Given the description of an element on the screen output the (x, y) to click on. 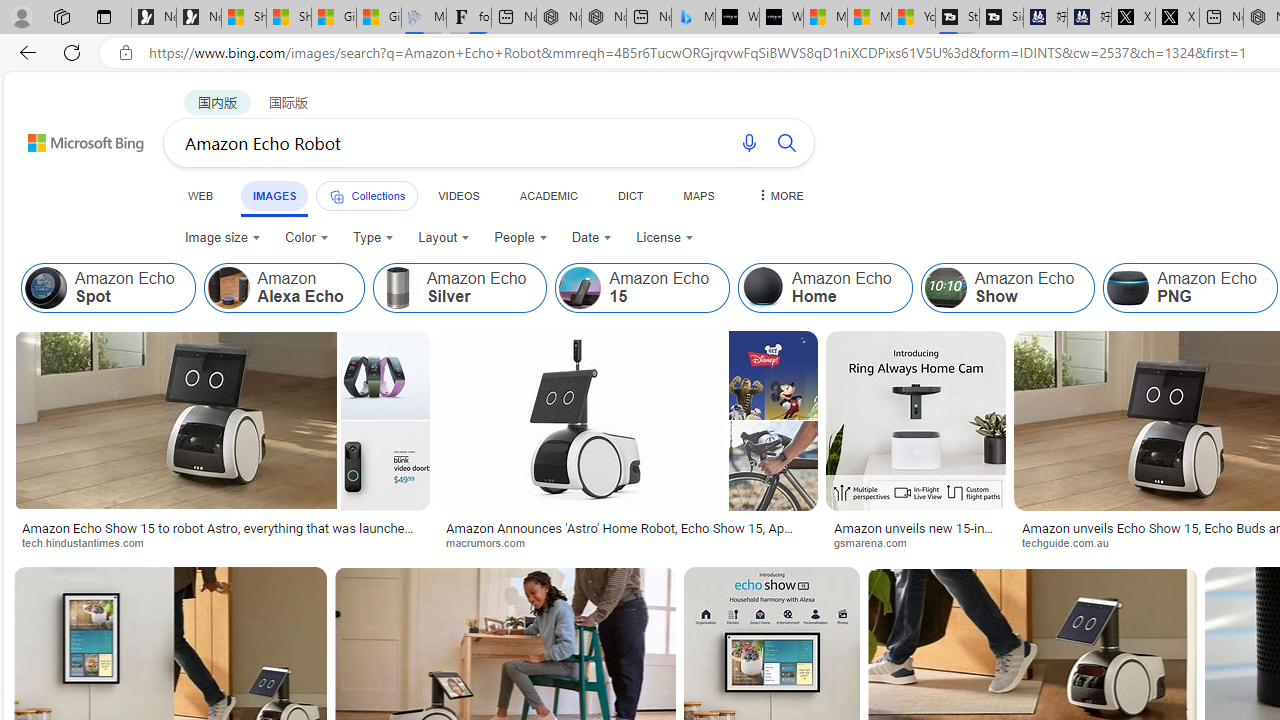
MAPS (698, 195)
Microsoft Start Sports (825, 17)
Amazon Echo Silver (459, 287)
Nordace - #1 Japanese Best-Seller - Siena Smart Backpack (603, 17)
License (665, 237)
IMAGES (274, 195)
